Given the description of an element on the screen output the (x, y) to click on. 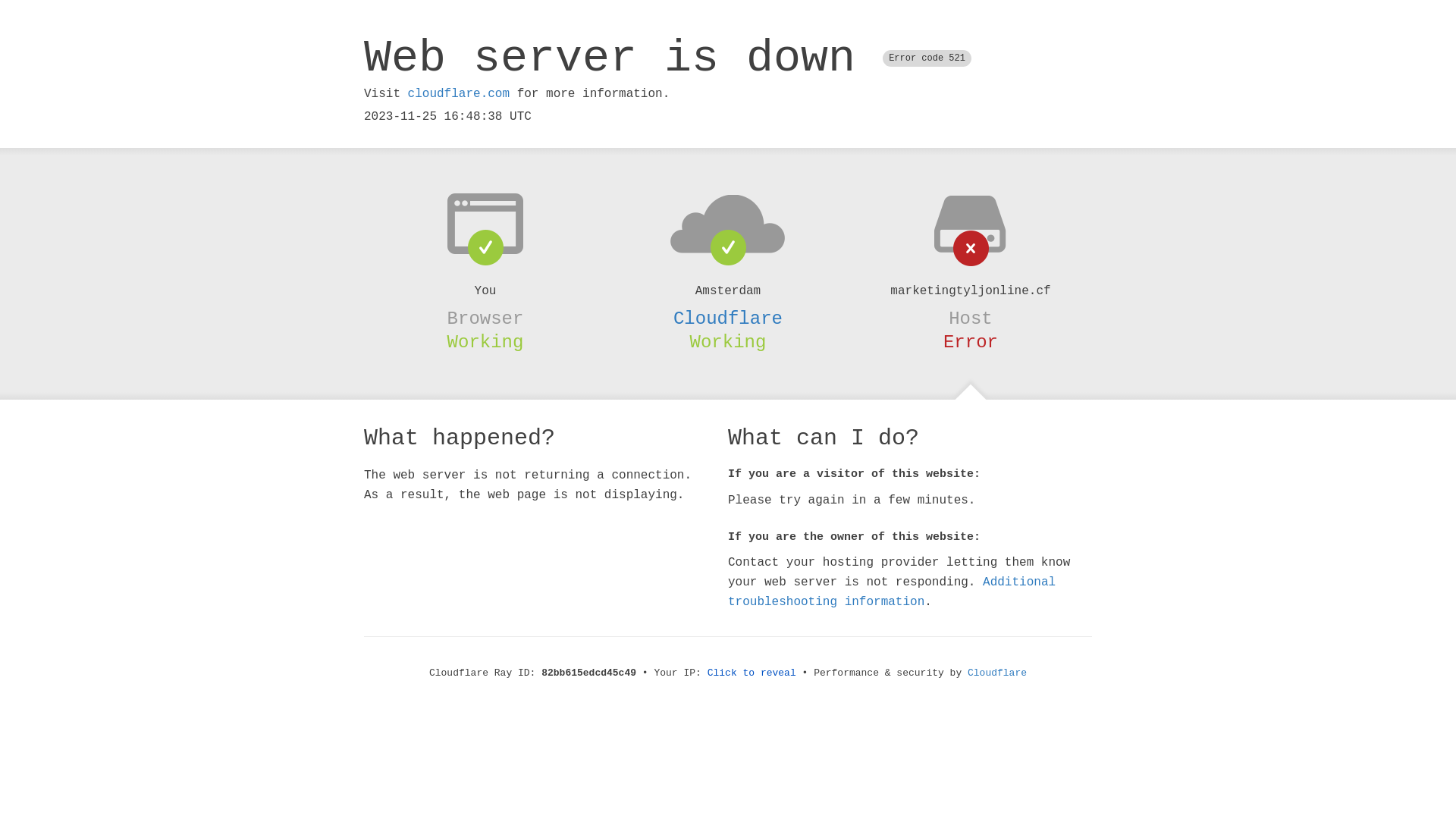
Additional troubleshooting information Element type: text (891, 591)
Cloudflare Element type: text (727, 318)
Cloudflare Element type: text (996, 672)
Click to reveal Element type: text (751, 672)
cloudflare.com Element type: text (458, 93)
